Given the description of an element on the screen output the (x, y) to click on. 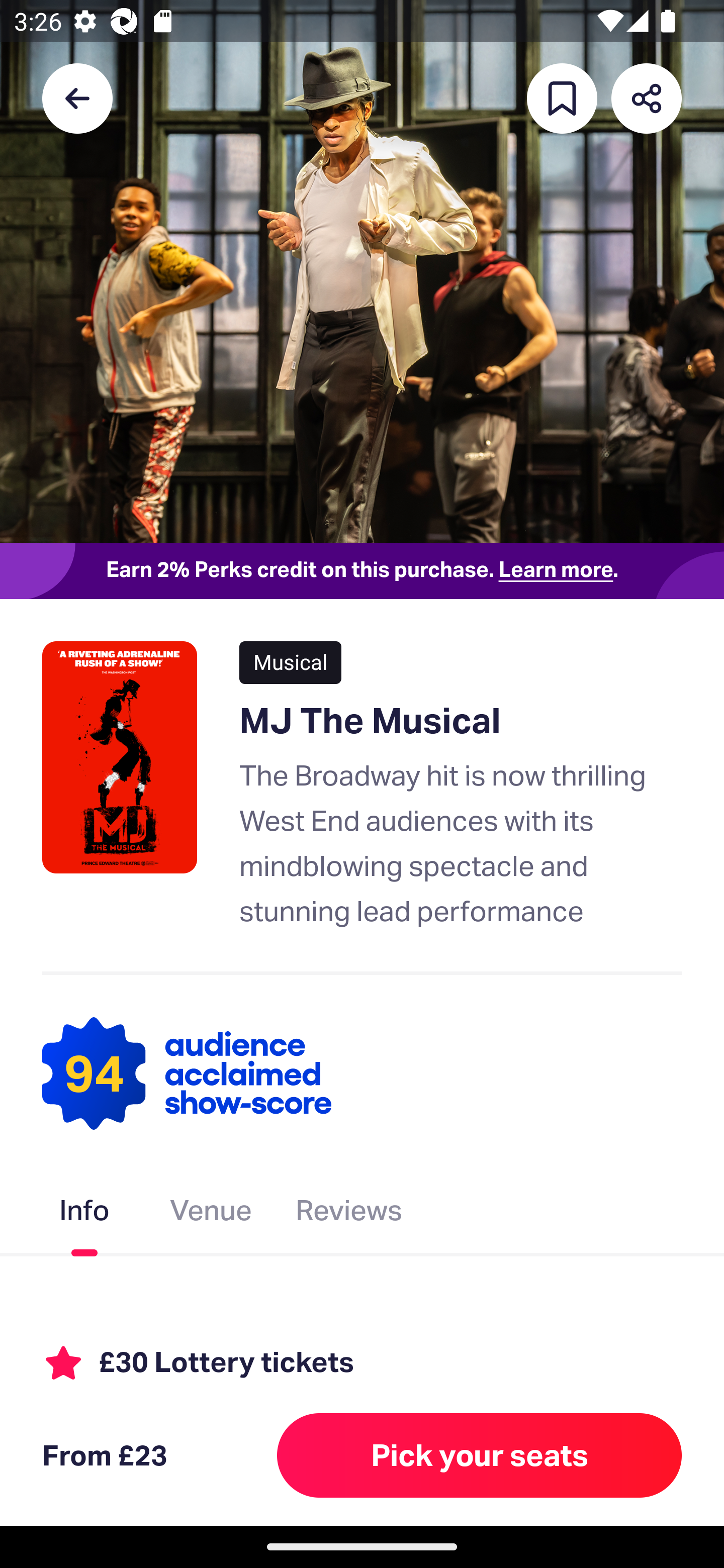
Earn 2% Perks credit on this purchase. Learn more. (362, 570)
Venue (210, 1213)
Reviews (348, 1213)
Pick your seats (479, 1454)
